Given the description of an element on the screen output the (x, y) to click on. 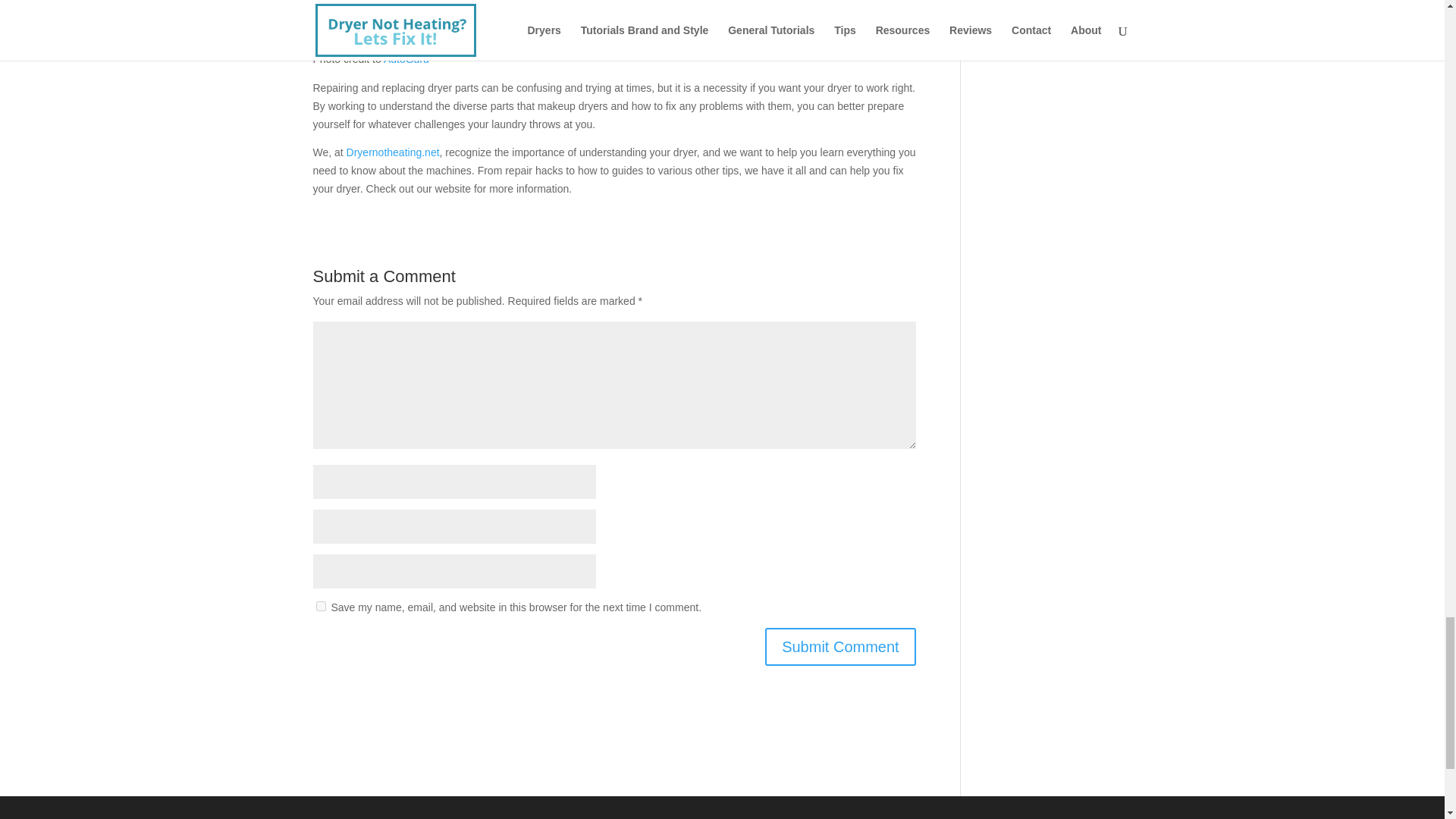
Dryernotheating.net (392, 152)
Submit Comment (840, 646)
yes (319, 605)
AutoGuru (406, 59)
Submit Comment (840, 646)
